Given the description of an element on the screen output the (x, y) to click on. 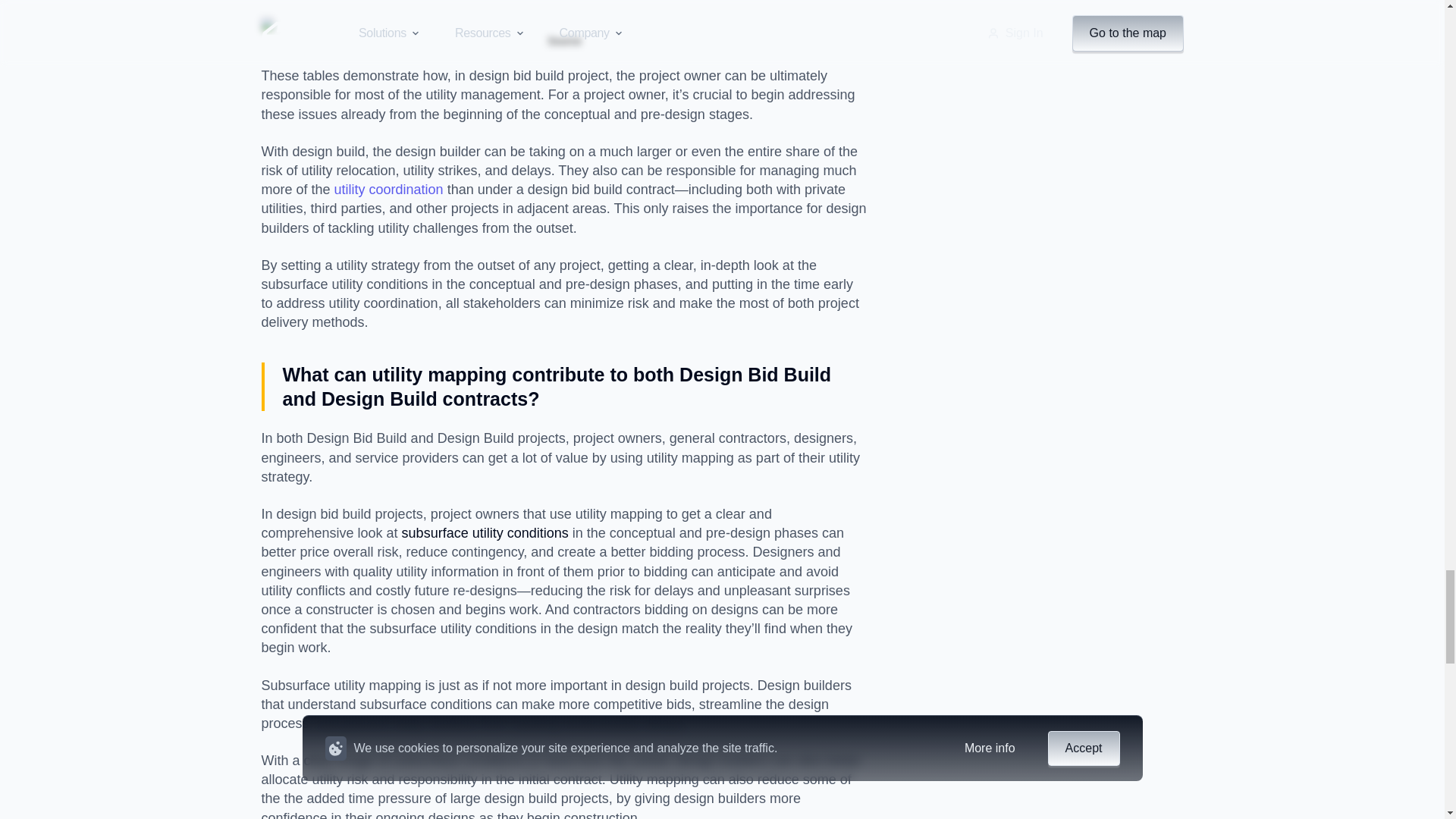
utility coordination (389, 189)
